Given the description of an element on the screen output the (x, y) to click on. 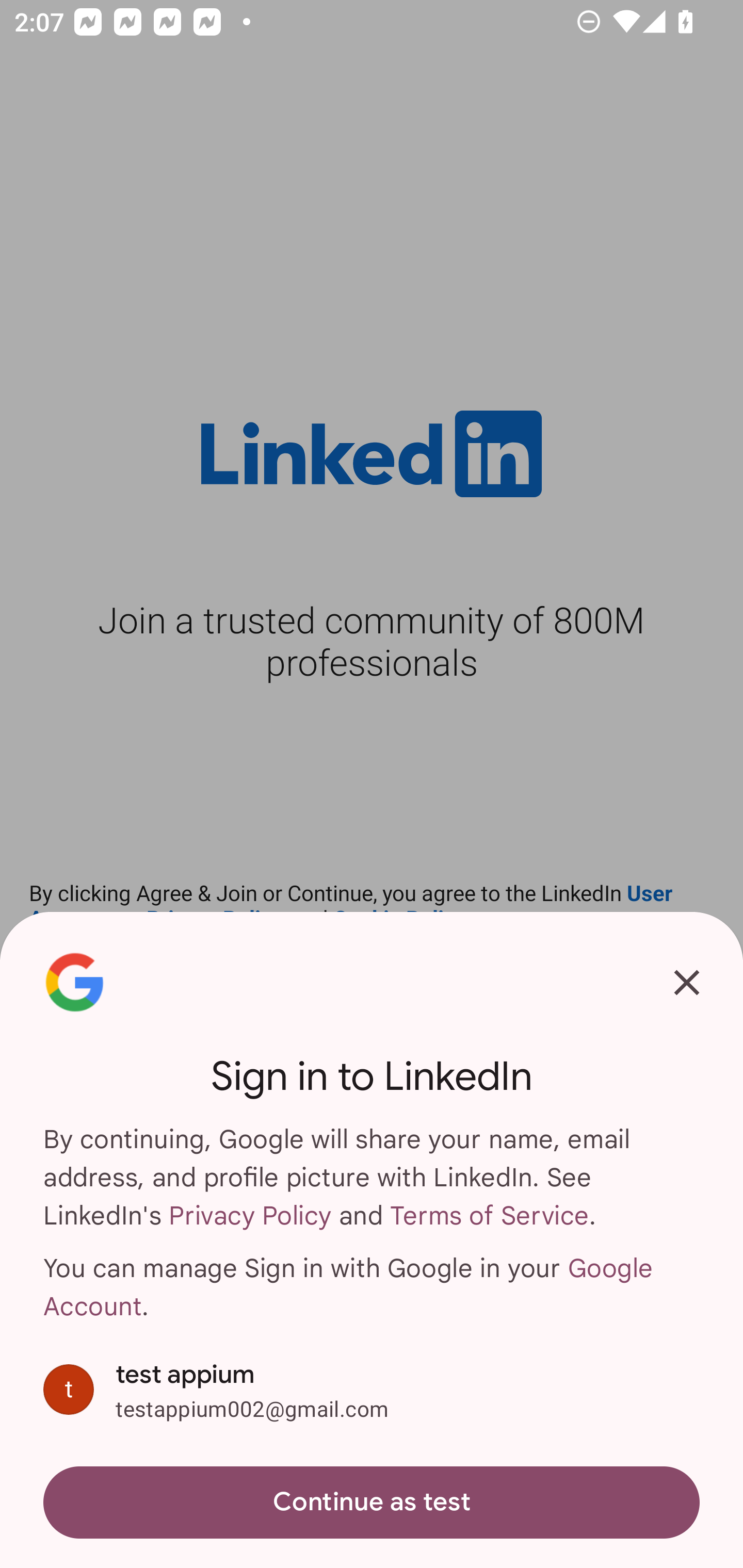
Cancel (686, 982)
Continue as test (371, 1502)
